Given the description of an element on the screen output the (x, y) to click on. 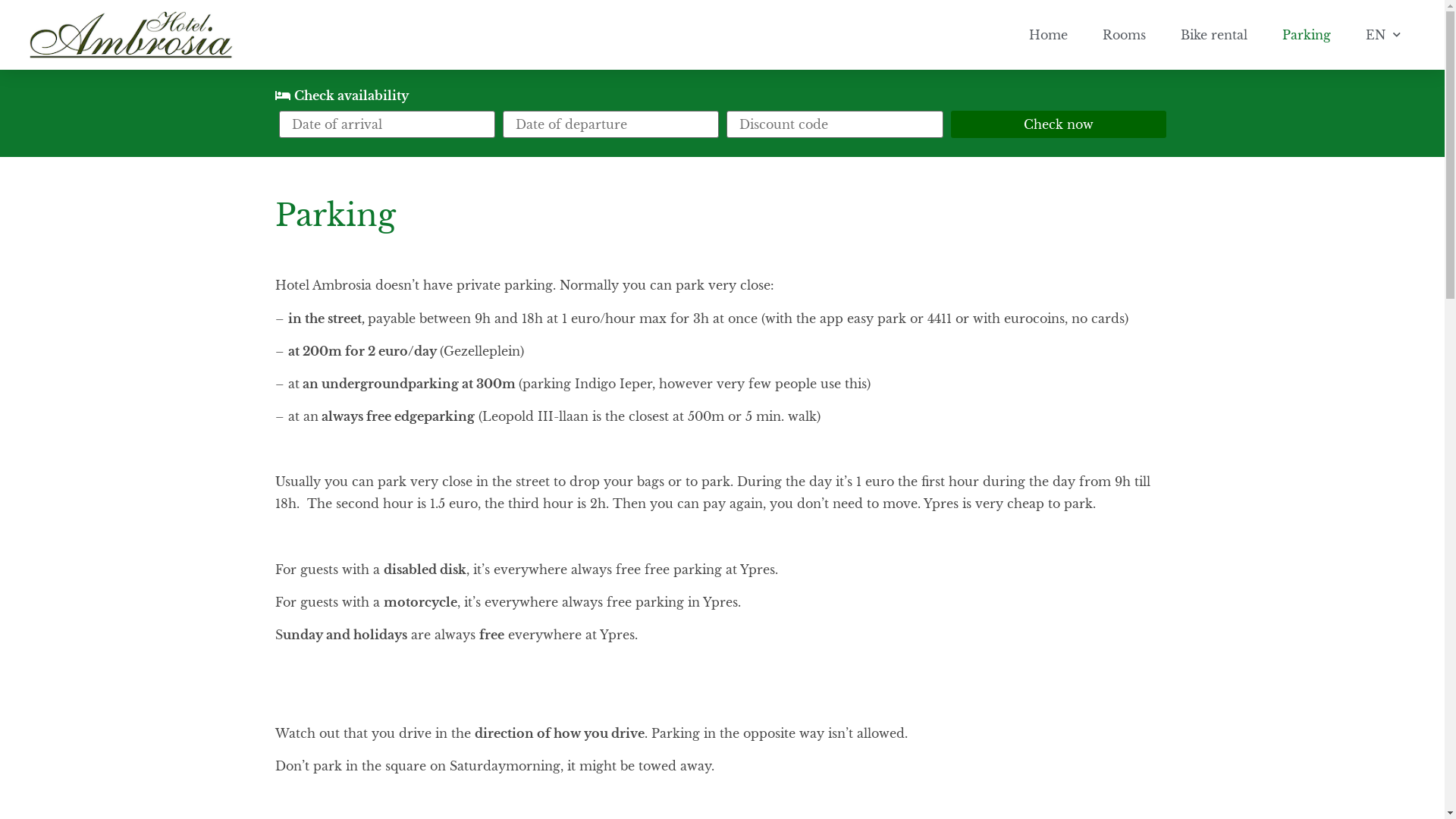
Check now Element type: text (1058, 124)
Bike rental Element type: text (1213, 34)
Rooms Element type: text (1124, 34)
Home Element type: text (1047, 34)
Parking Element type: text (1306, 34)
EN Element type: text (1382, 34)
